Given the description of an element on the screen output the (x, y) to click on. 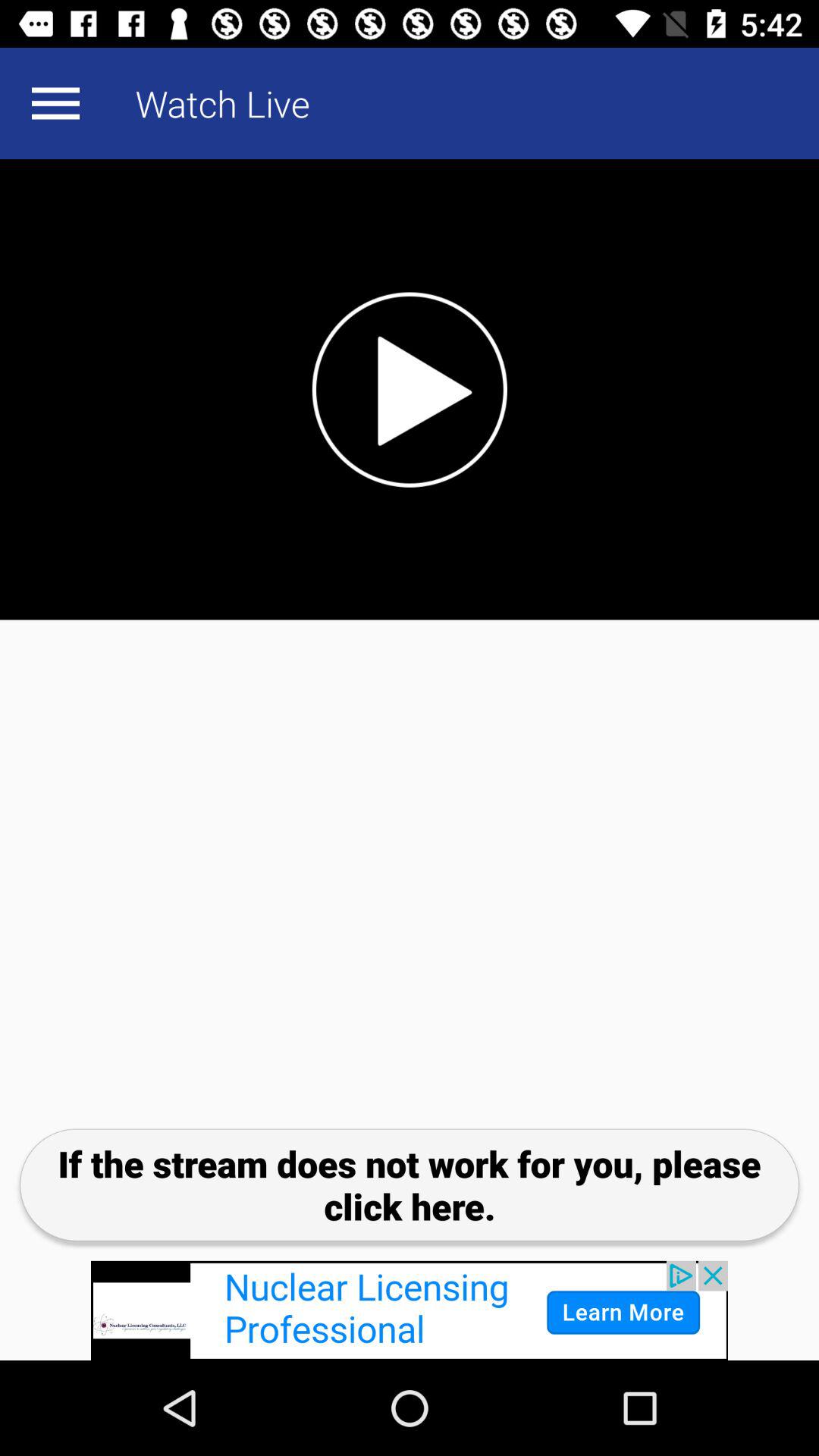
view advertisement (409, 1310)
